Given the description of an element on the screen output the (x, y) to click on. 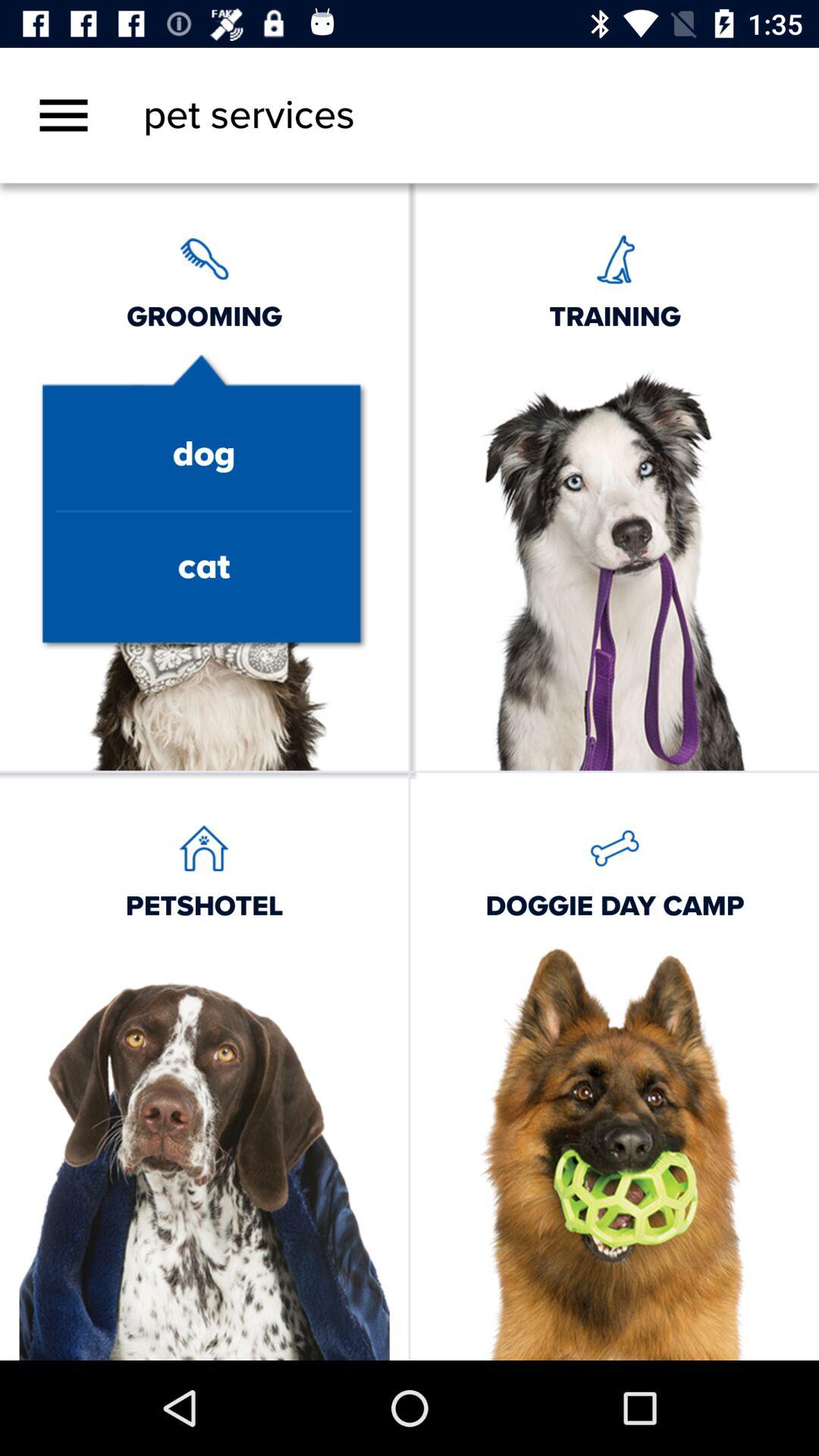
click the icon below the grooming icon (203, 454)
